Given the description of an element on the screen output the (x, y) to click on. 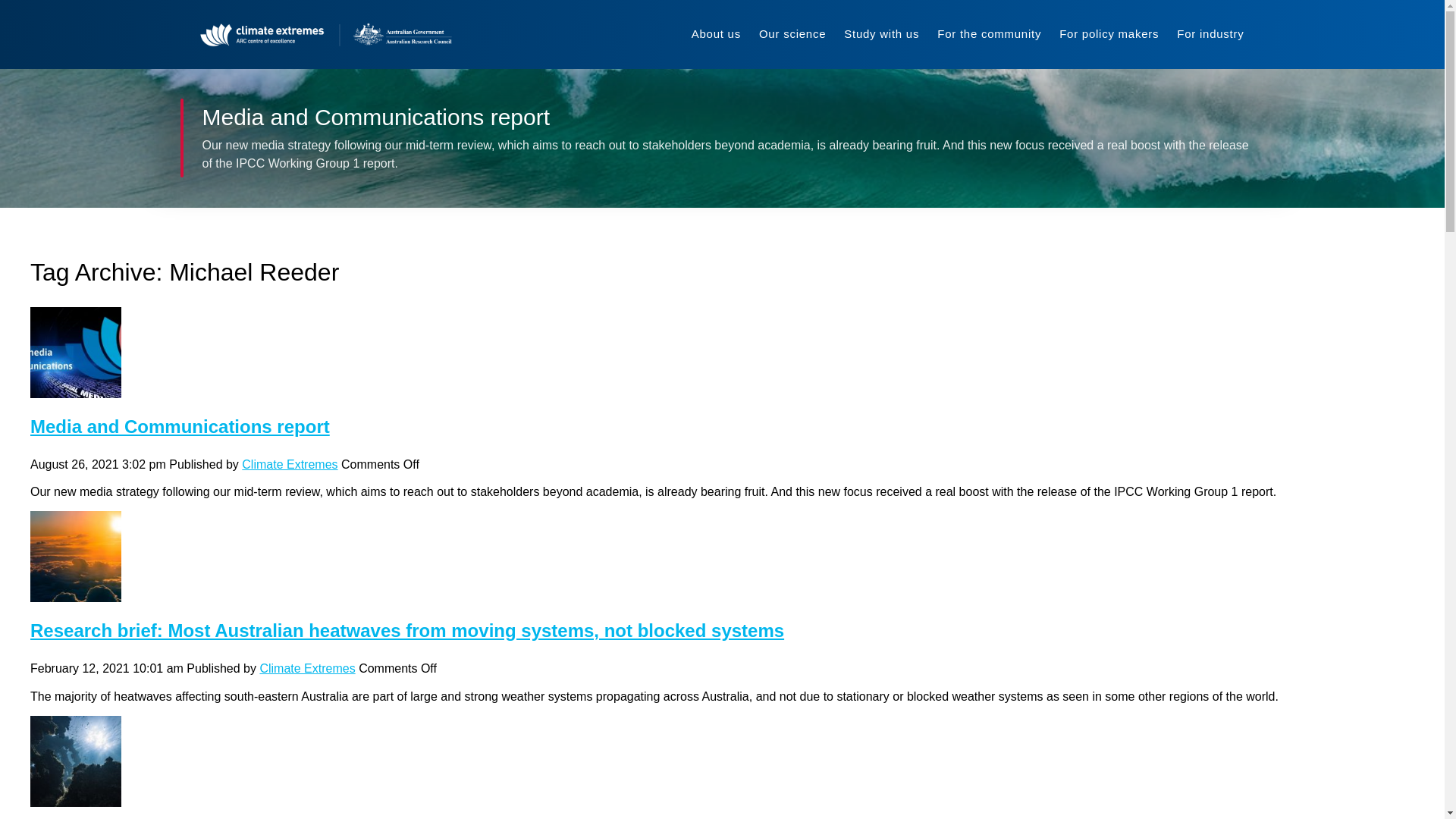
Media and Communications report (180, 426)
Posts by Climate Extremes (307, 667)
Posts by Climate Extremes (289, 463)
Media and Communications report (75, 388)
About us (715, 34)
Our science (791, 34)
